Given the description of an element on the screen output the (x, y) to click on. 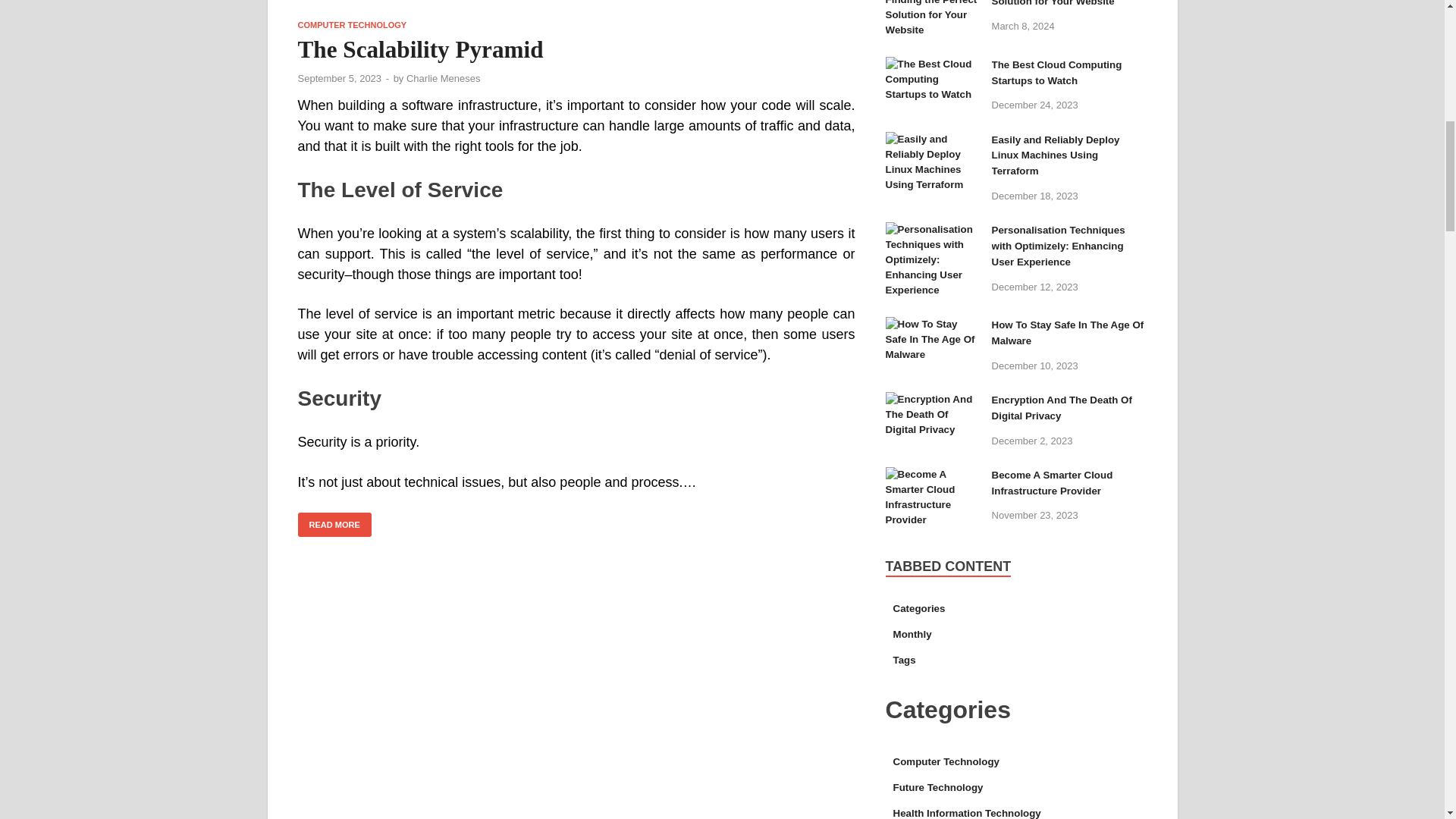
How To Stay Safe In The Age Of Malware (932, 326)
Become A Smarter Cloud Infrastructure Provider (932, 476)
READ MORE (334, 524)
Encryption And The Death Of Digital Privacy (932, 401)
September 5, 2023 (339, 78)
Charlie Meneses (443, 78)
The Best Cloud Computing Startups to Watch (932, 66)
Easily and Reliably Deploy Linux Machines Using Terraform (932, 141)
The Scalability Pyramid (575, 10)
